Given the description of an element on the screen output the (x, y) to click on. 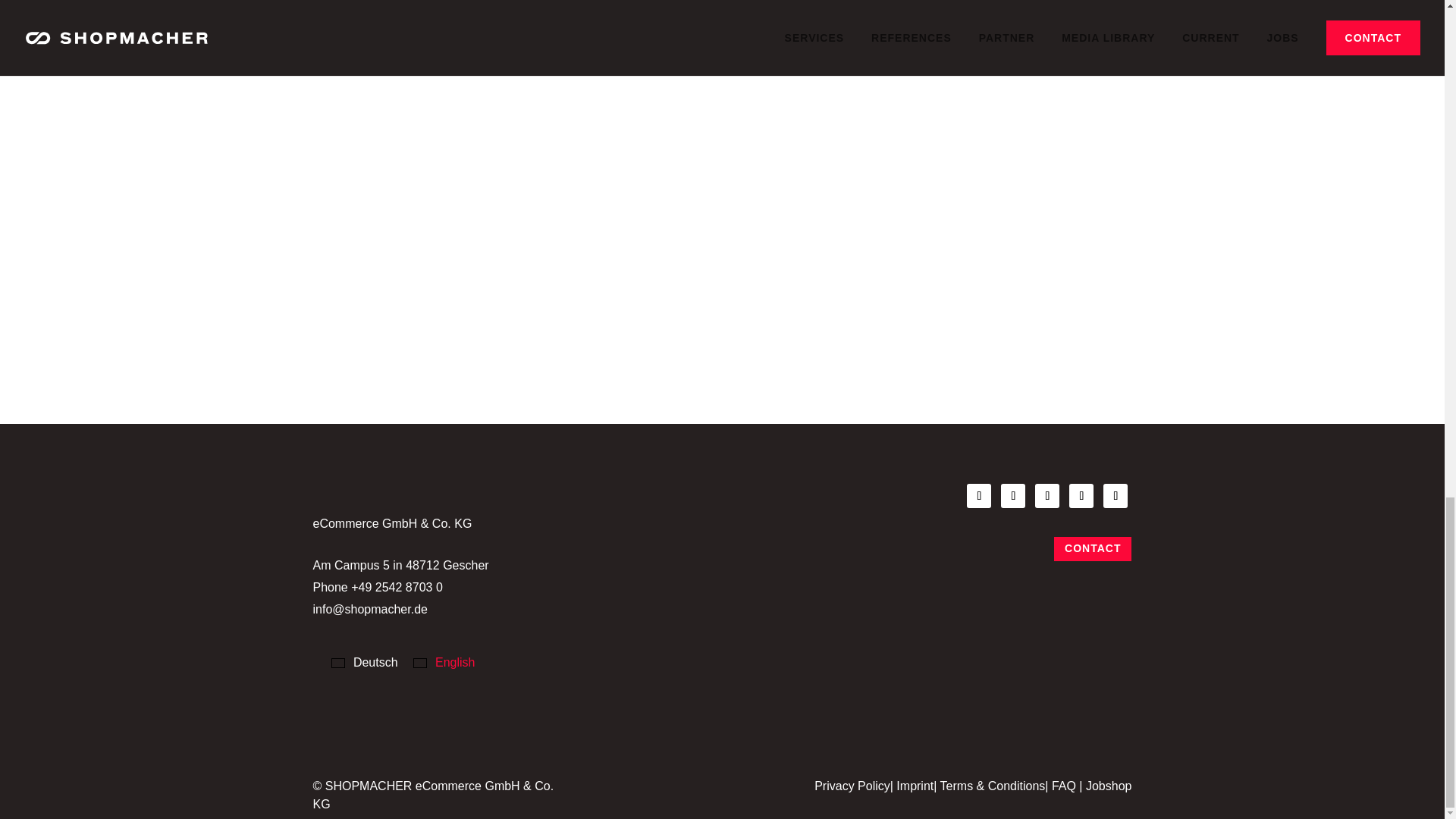
Follow on LinkedIn (1013, 495)
Follow on Twitter (1080, 495)
Follow on Youtube (1114, 495)
Privacy Policy (851, 785)
Deutsch (367, 662)
Imprint (914, 785)
Conditions (1063, 785)
CONTACT (1092, 549)
Follow on Instagram (1047, 495)
Conditions (992, 785)
English (444, 662)
Follow on Facebook (978, 495)
